Given the description of an element on the screen output the (x, y) to click on. 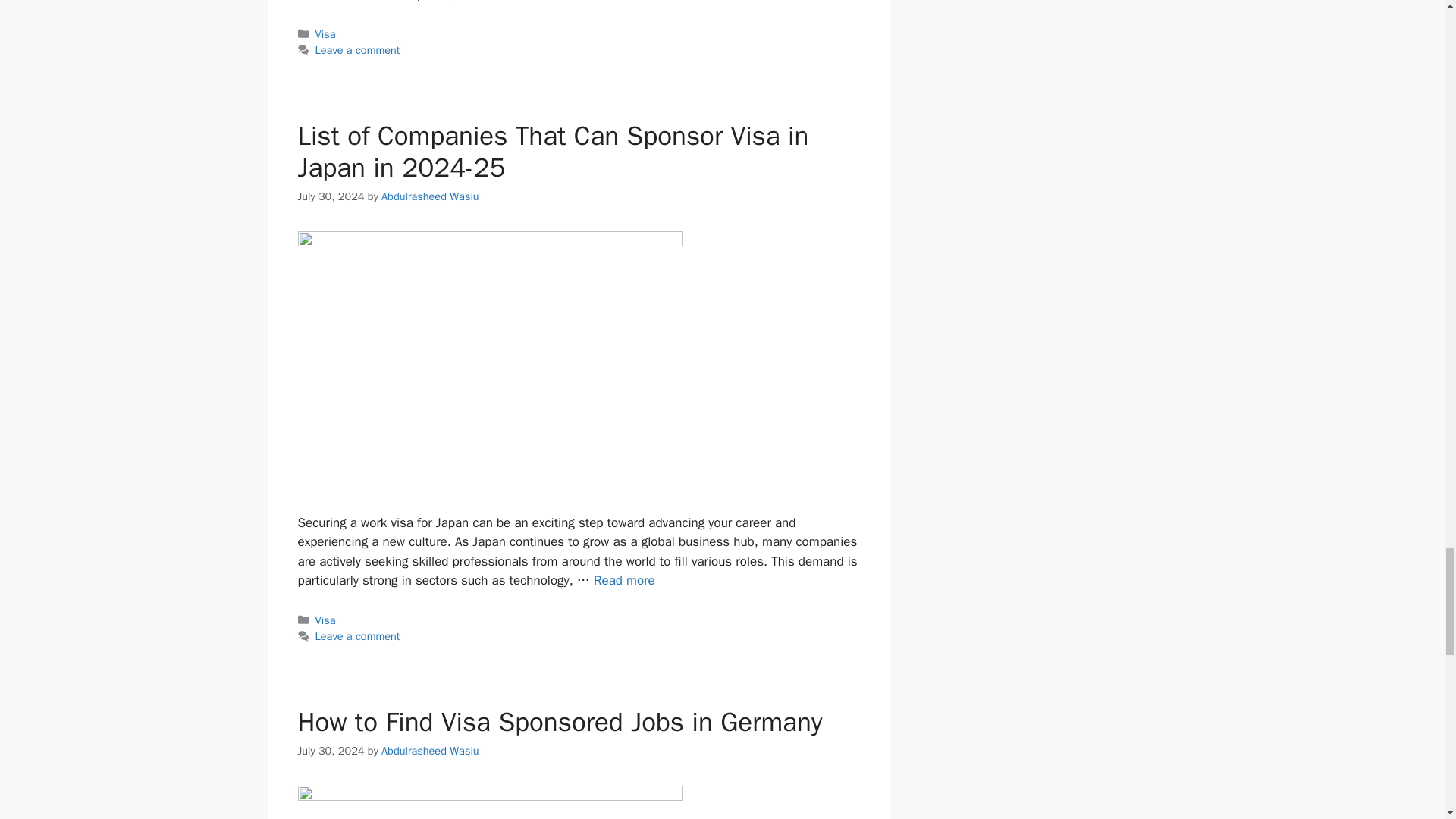
View all posts by Abdulrasheed Wasiu (430, 196)
How to Find UK Care Jobs With Visa Sponsorship (539, 1)
List of Companies That Can Sponsor Visa in Japan in 2024-25 (624, 580)
